Given the description of an element on the screen output the (x, y) to click on. 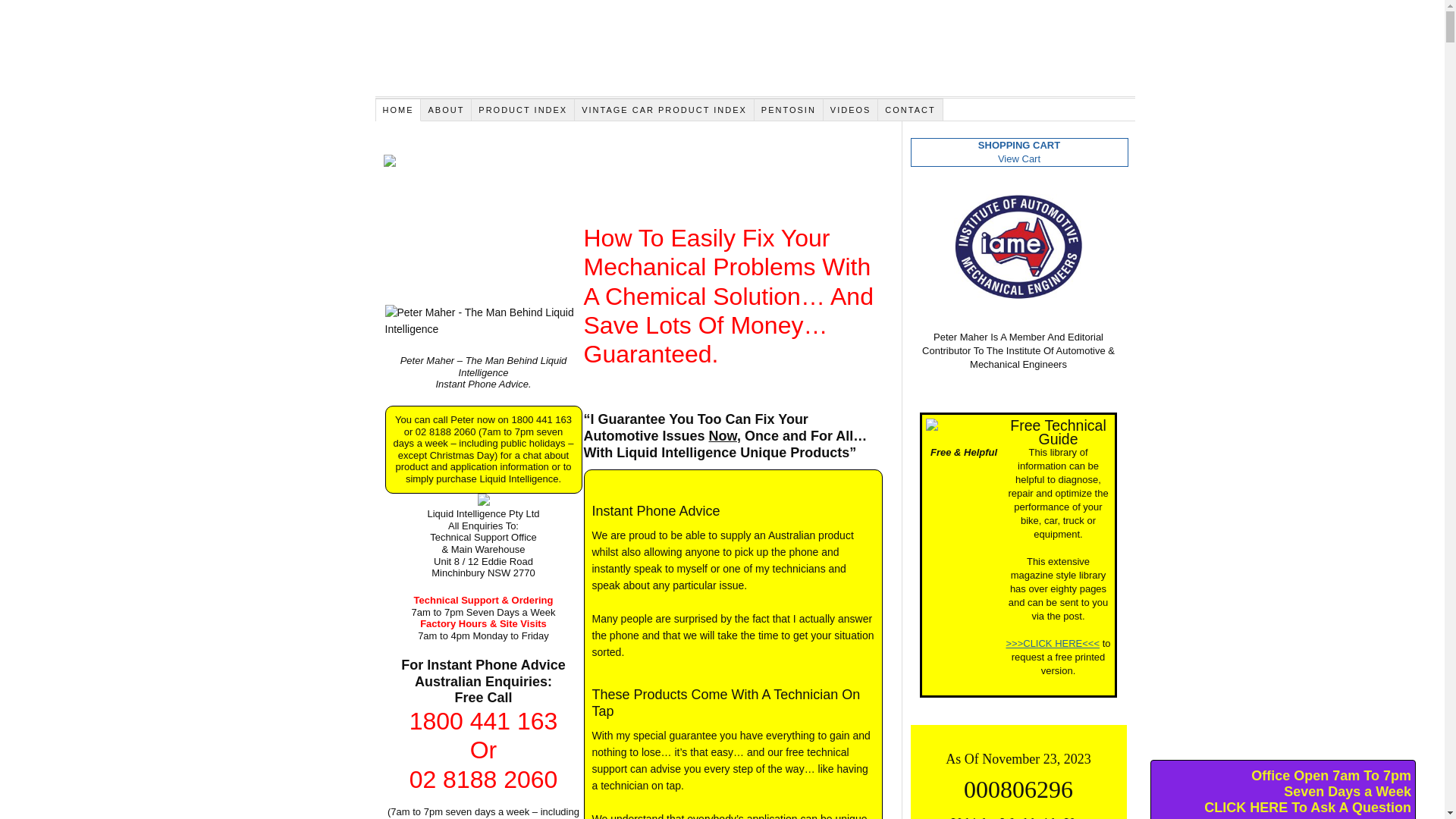
VIDEOS Element type: text (850, 109)
SHOPPING CART
View Cart Element type: text (1019, 151)
>>>CLICK HERE<<< Element type: text (1052, 643)
Liquid Intelligence Element type: text (754, 56)
IAME Liquid Intelligence Element type: hover (1017, 246)
CONTACT Element type: text (910, 109)
Peter Maher - The Man Behind Liquid Intelligence Element type: hover (483, 321)
VINTAGE CAR PRODUCT INDEX Element type: text (664, 109)
HOME Element type: text (398, 109)
ABOUT Element type: text (445, 109)
PENTOSIN Element type: text (788, 109)
PRODUCT INDEX Element type: text (522, 109)
